Given the description of an element on the screen output the (x, y) to click on. 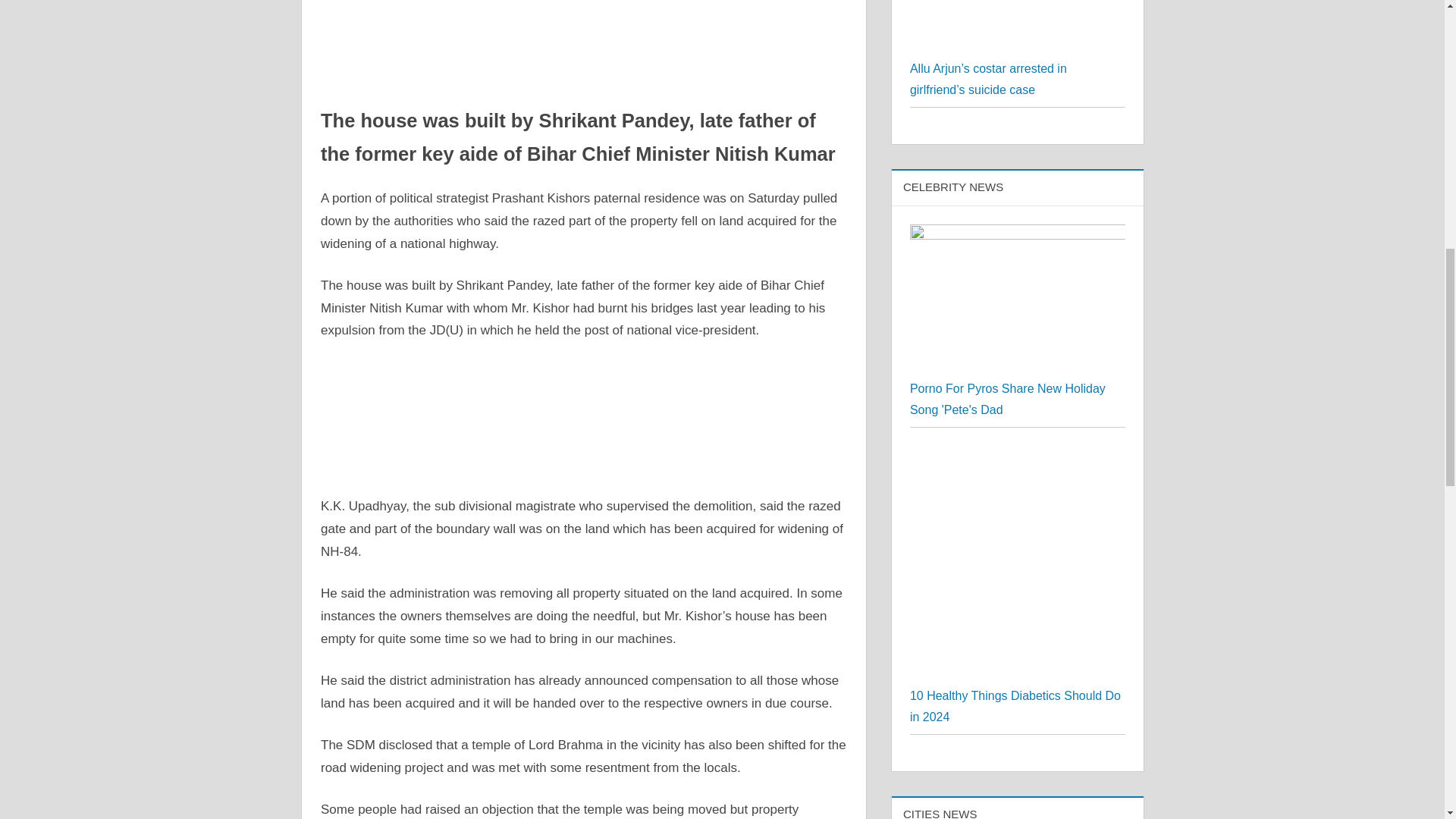
Porno For Pyros Share New Holiday Song 'Pete's Dad (1017, 234)
10 Healthy Things Diabetics Should Do in 2024 (1017, 565)
10 Healthy Things Diabetics Should Do in 2024 (1017, 455)
Porno For Pyros Share New Holiday Song 'Pete's Dad (1017, 301)
Porno For Pyros Share New Holiday Song 'Pete's Dad (1007, 399)
10 Healthy Things Diabetics Should Do in 2024 (1015, 706)
